Given the description of an element on the screen output the (x, y) to click on. 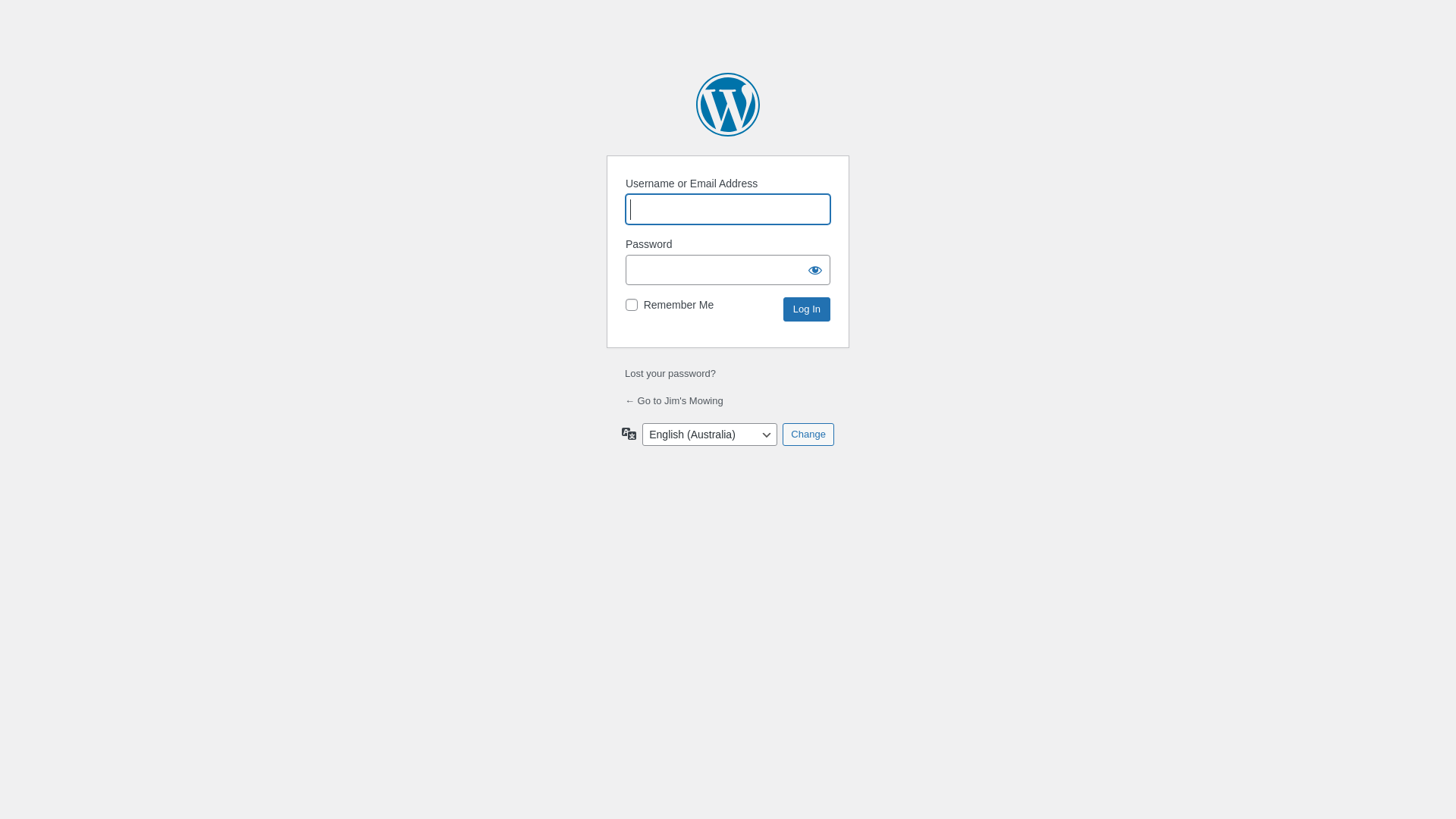
Change Element type: text (808, 434)
Log In Element type: text (806, 309)
Lost your password? Element type: text (669, 373)
Powered by WordPress Element type: text (727, 104)
